Given the description of an element on the screen output the (x, y) to click on. 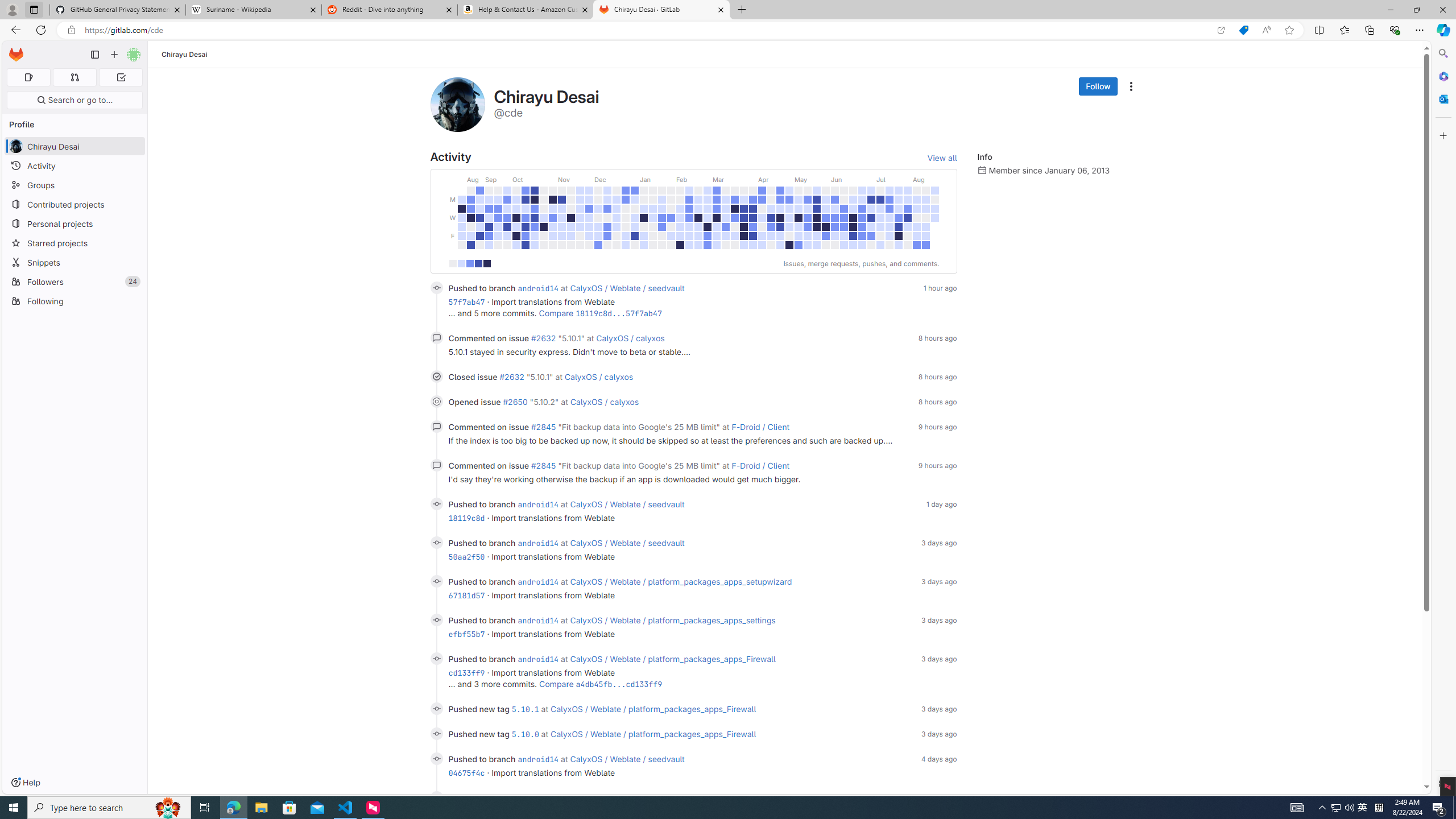
#2632 (542, 338)
